Given the description of an element on the screen output the (x, y) to click on. 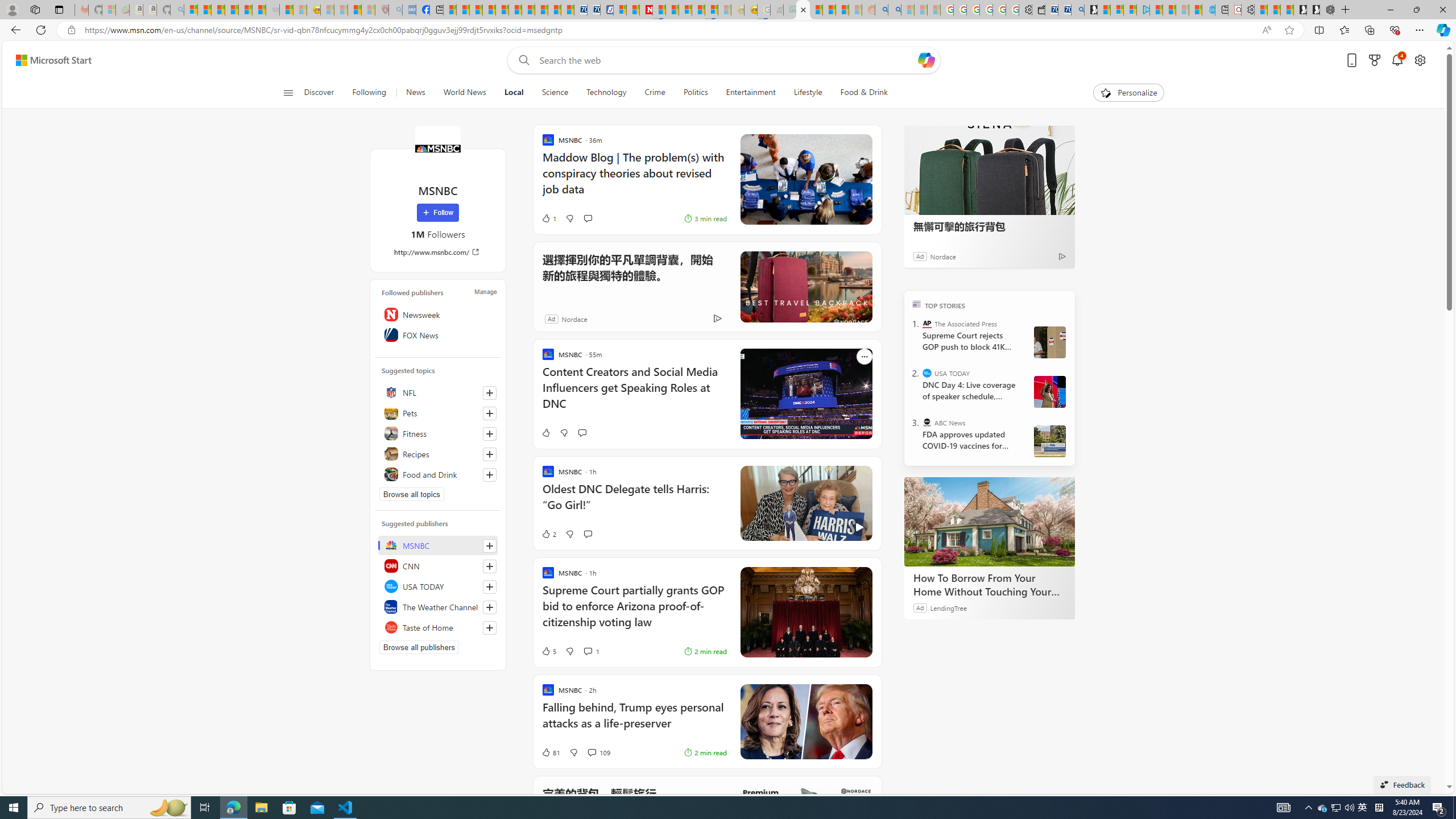
Combat Siege - Sleeping (271, 9)
TOP (916, 302)
Browse all topics (412, 494)
